Given the description of an element on the screen output the (x, y) to click on. 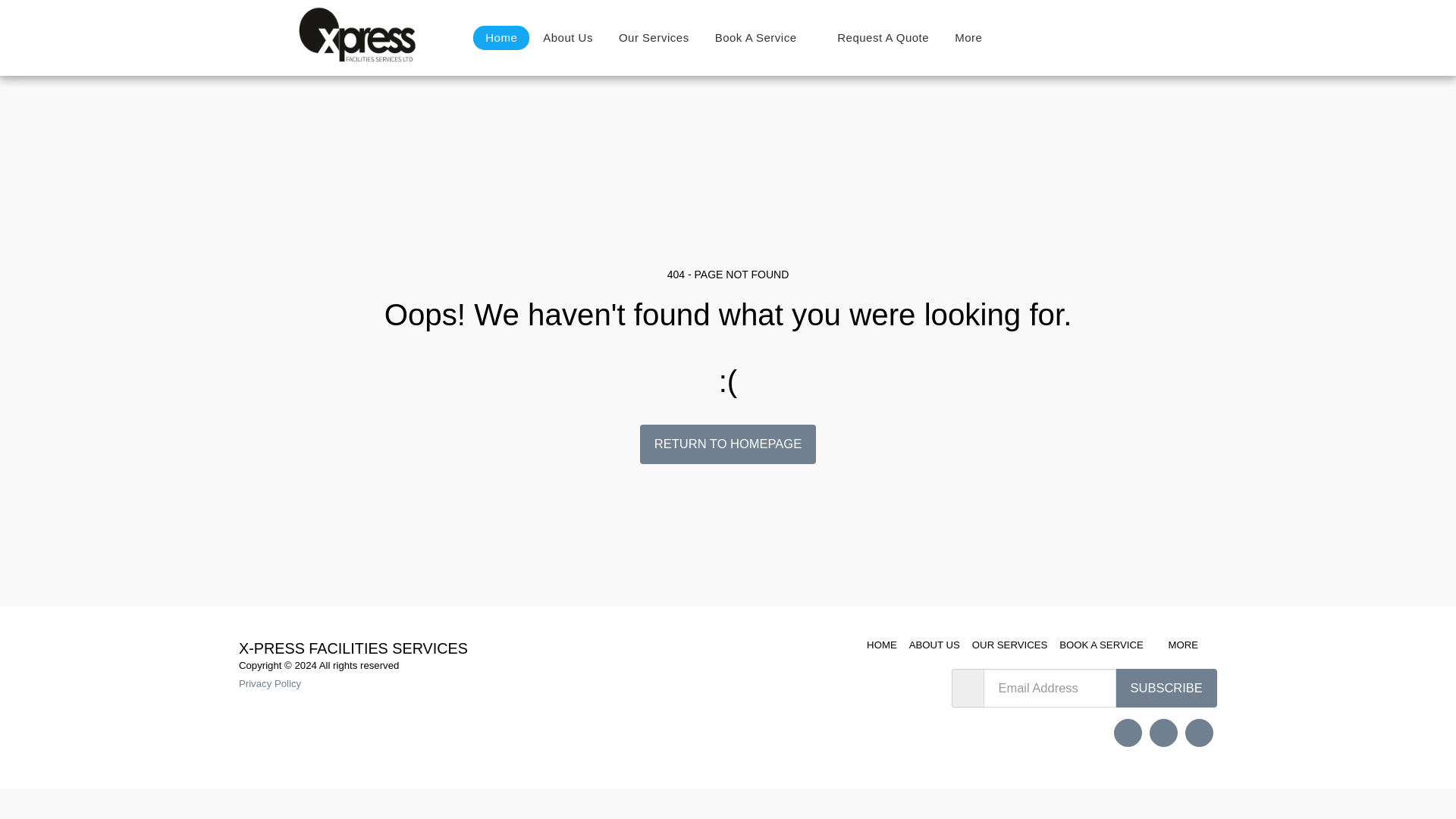
Request A Quote (882, 37)
More   (975, 37)
About Us (568, 37)
Home (501, 37)
Our Services (654, 37)
